Given the description of an element on the screen output the (x, y) to click on. 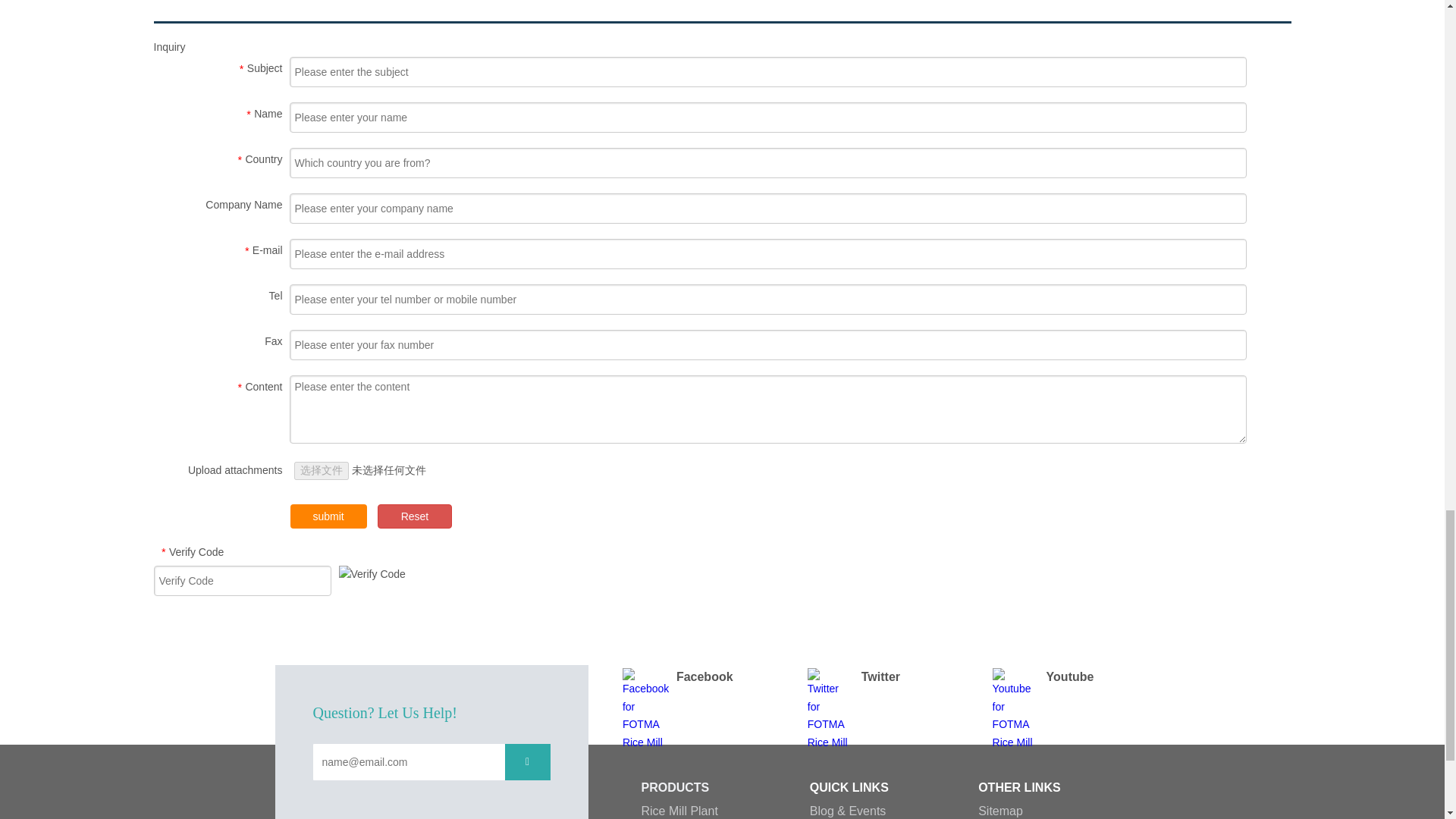
Rice Mill Plant (679, 810)
Sitemap (1000, 810)
